Given the description of an element on the screen output the (x, y) to click on. 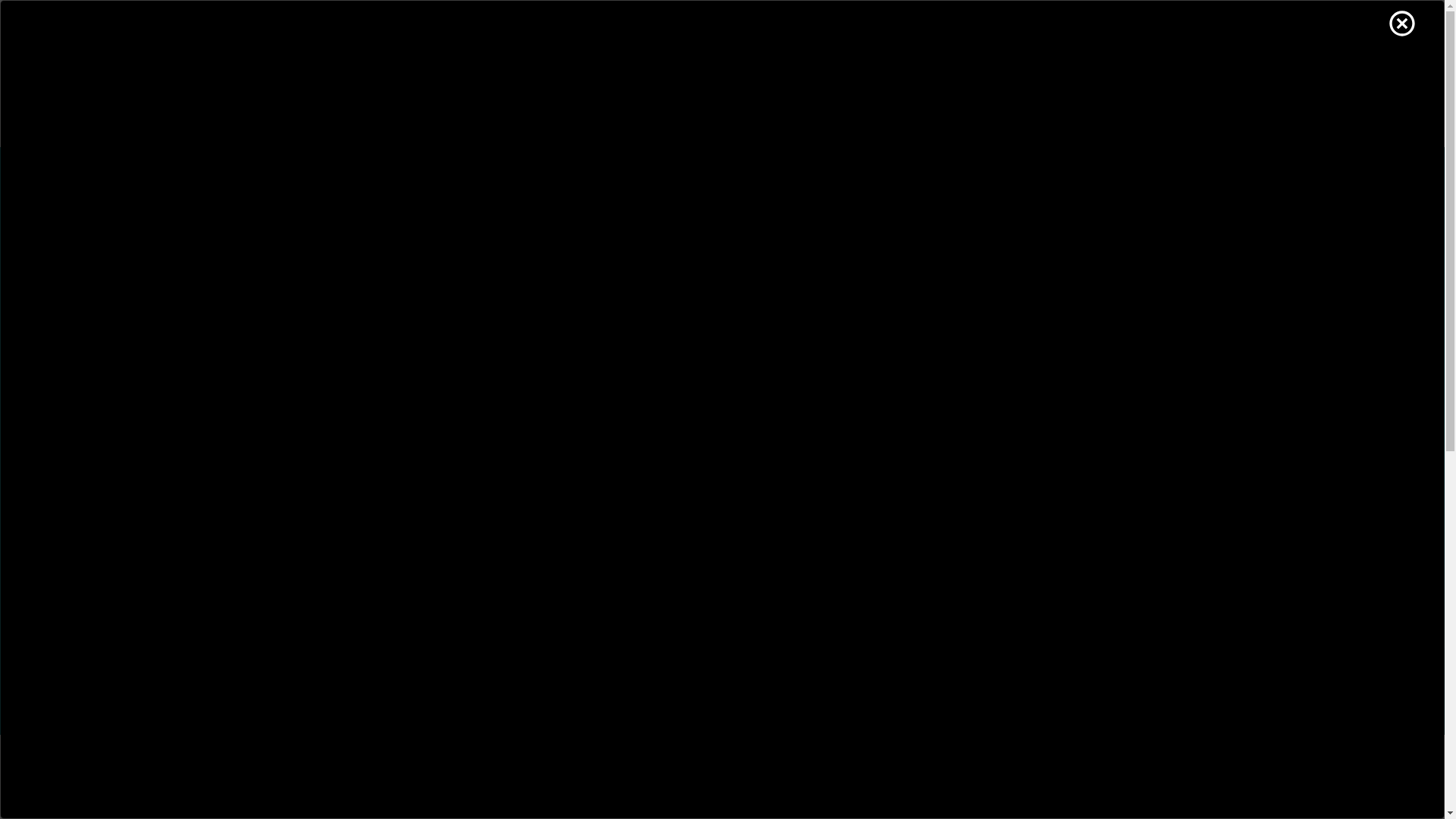
VOLONTARIAT Element type: text (925, 124)
NOTRE BOUTIQUE Element type: text (1060, 71)
JE FAIS UN DON Element type: text (826, 71)
Accueil Element type: hover (398, 54)
MAGAZINE Element type: text (1038, 124)
SUIVANT Element type: text (334, 654)
ACCUEIL Element type: text (314, 124)
Mon panier Element type: text (1088, 23)
NOUS SOUTENIR Element type: text (793, 124)
CONTACT Element type: text (1137, 124)
Aller au contenu principal Element type: text (0, 0)
